Given the description of an element on the screen output the (x, y) to click on. 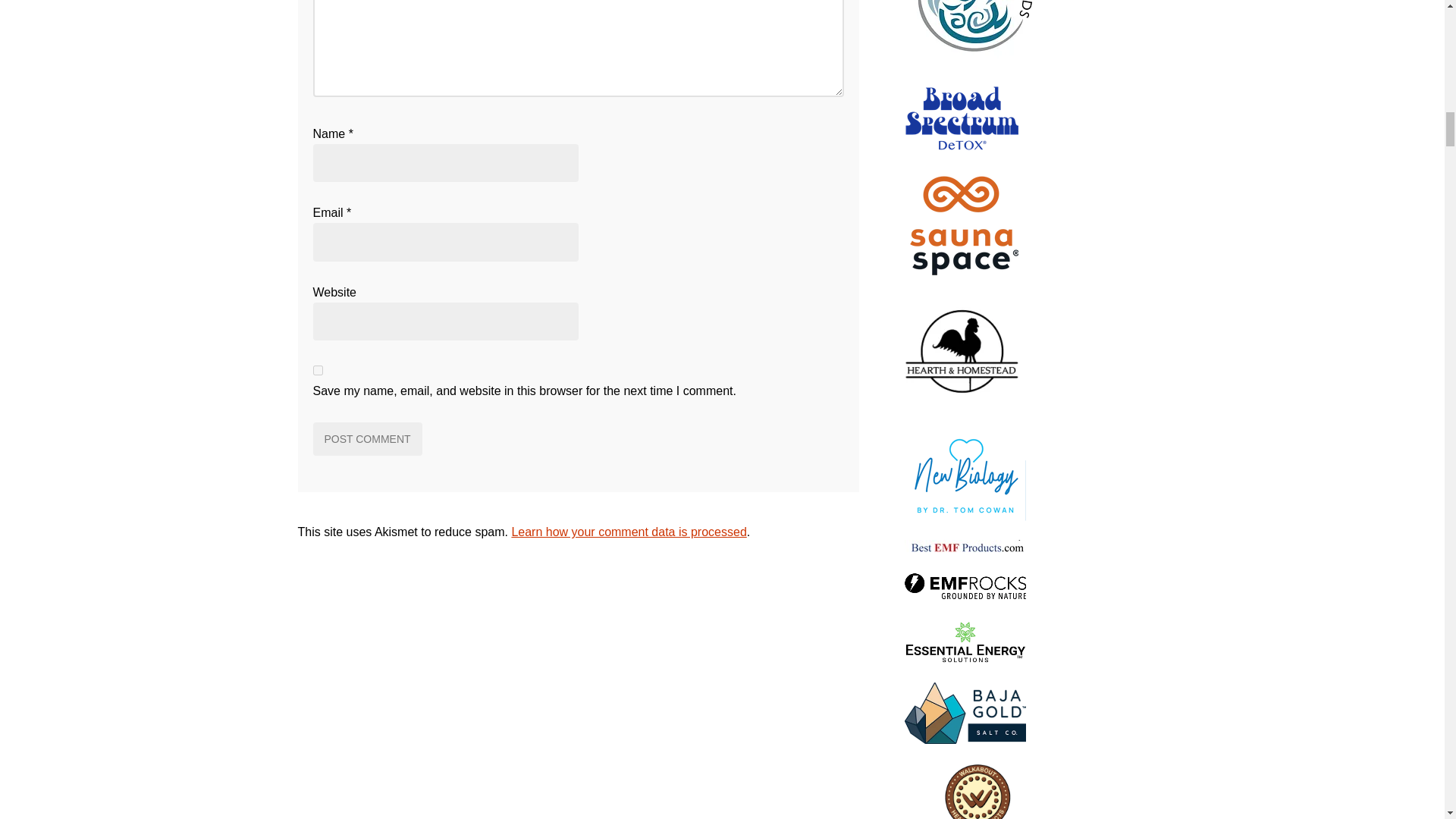
Post Comment (367, 438)
yes (317, 370)
